Given the description of an element on the screen output the (x, y) to click on. 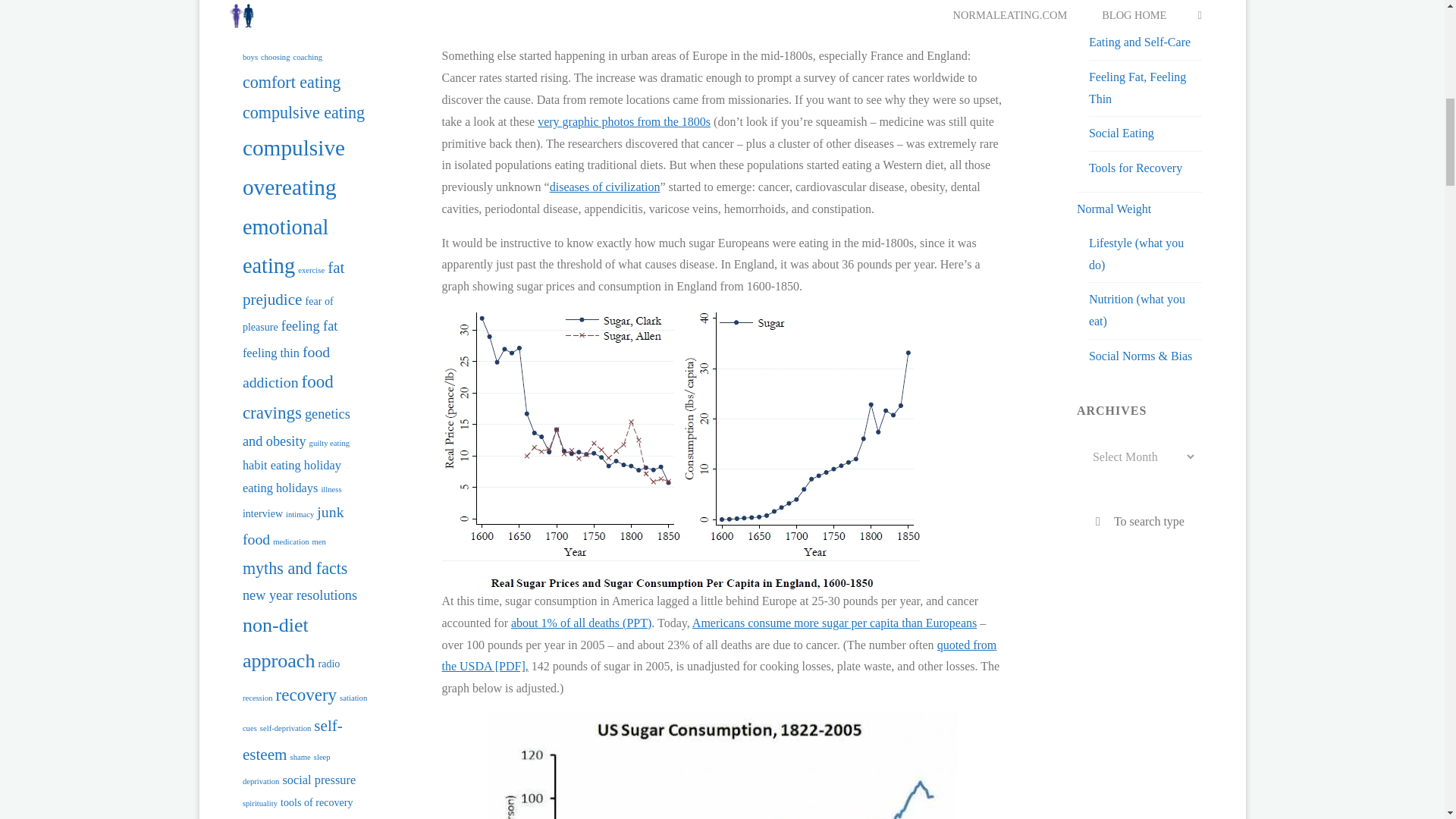
Americans consume more sugar per capita than Europeans (834, 622)
diseases of civilization (605, 186)
very graphic photos from the 1800s (623, 121)
